Given the description of an element on the screen output the (x, y) to click on. 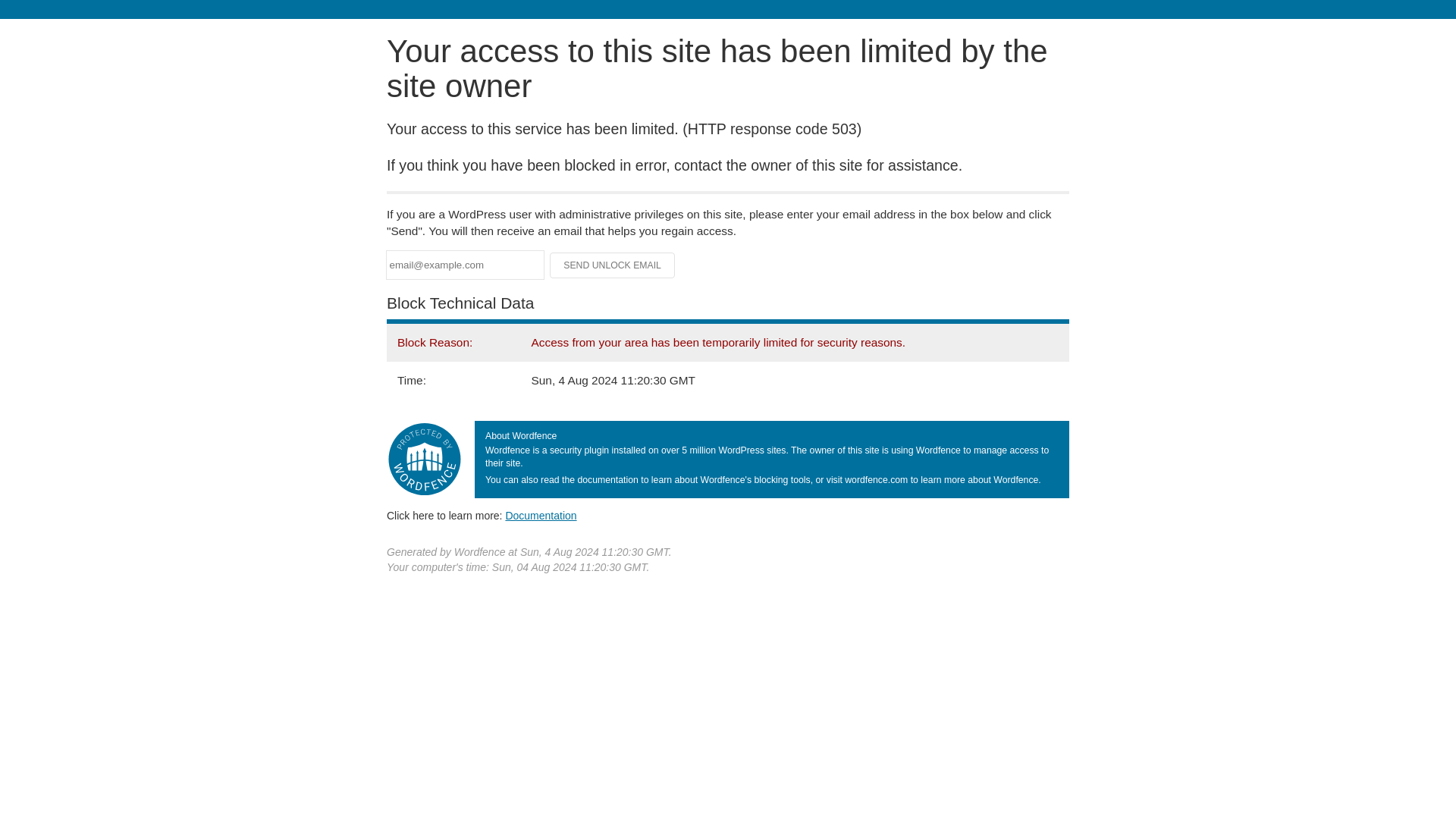
Send Unlock Email (612, 265)
Documentation (540, 515)
Send Unlock Email (612, 265)
